Given the description of an element on the screen output the (x, y) to click on. 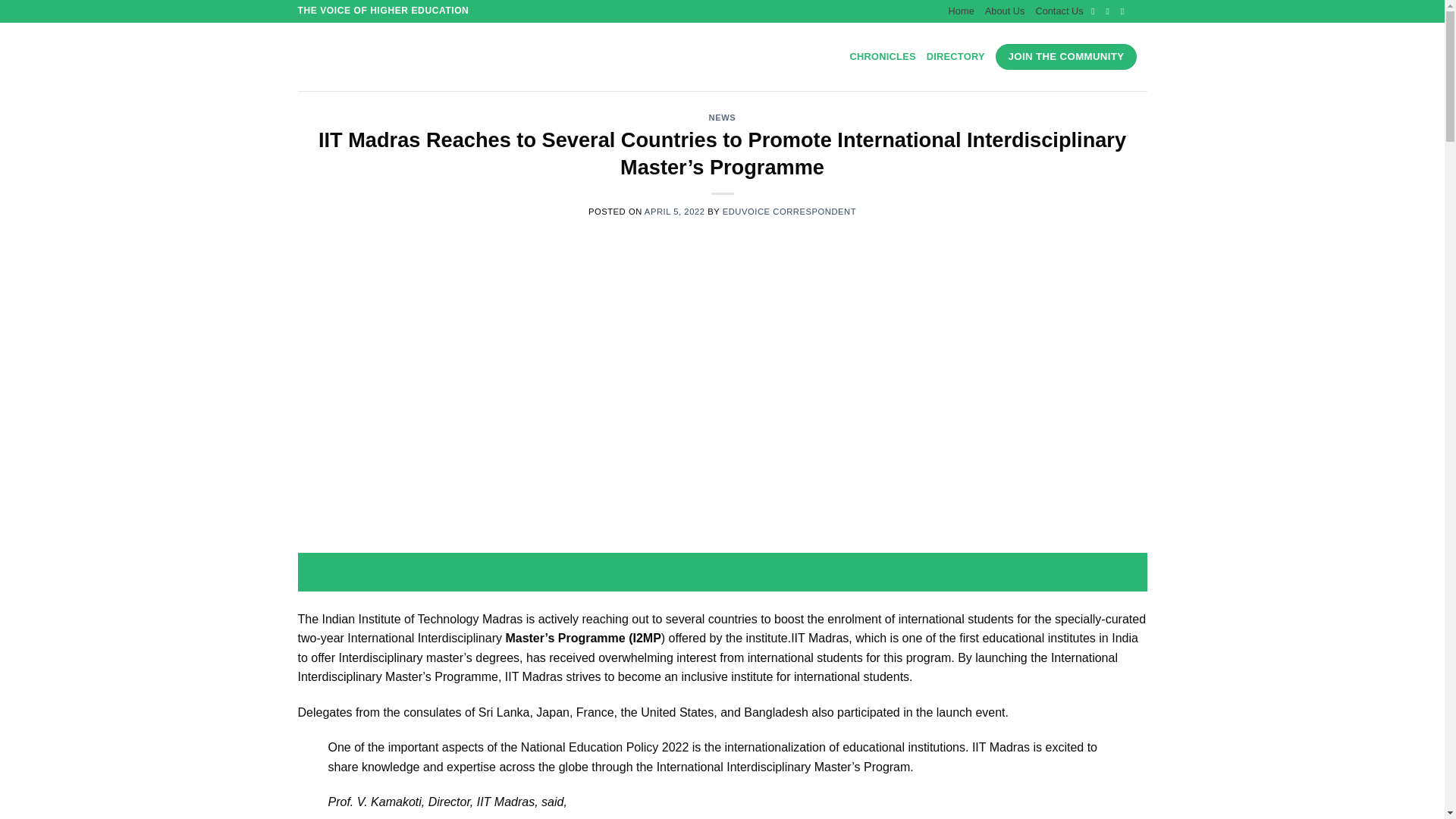
About Us (1005, 11)
APRIL 5, 2022 (674, 211)
Home (961, 11)
NEWS (722, 117)
EDUVOICE CORRESPONDENT (789, 211)
CHRONICLES (882, 56)
JOIN THE COMMUNITY (1066, 56)
DIRECTORY (955, 56)
Contact Us (1059, 11)
